Given the description of an element on the screen output the (x, y) to click on. 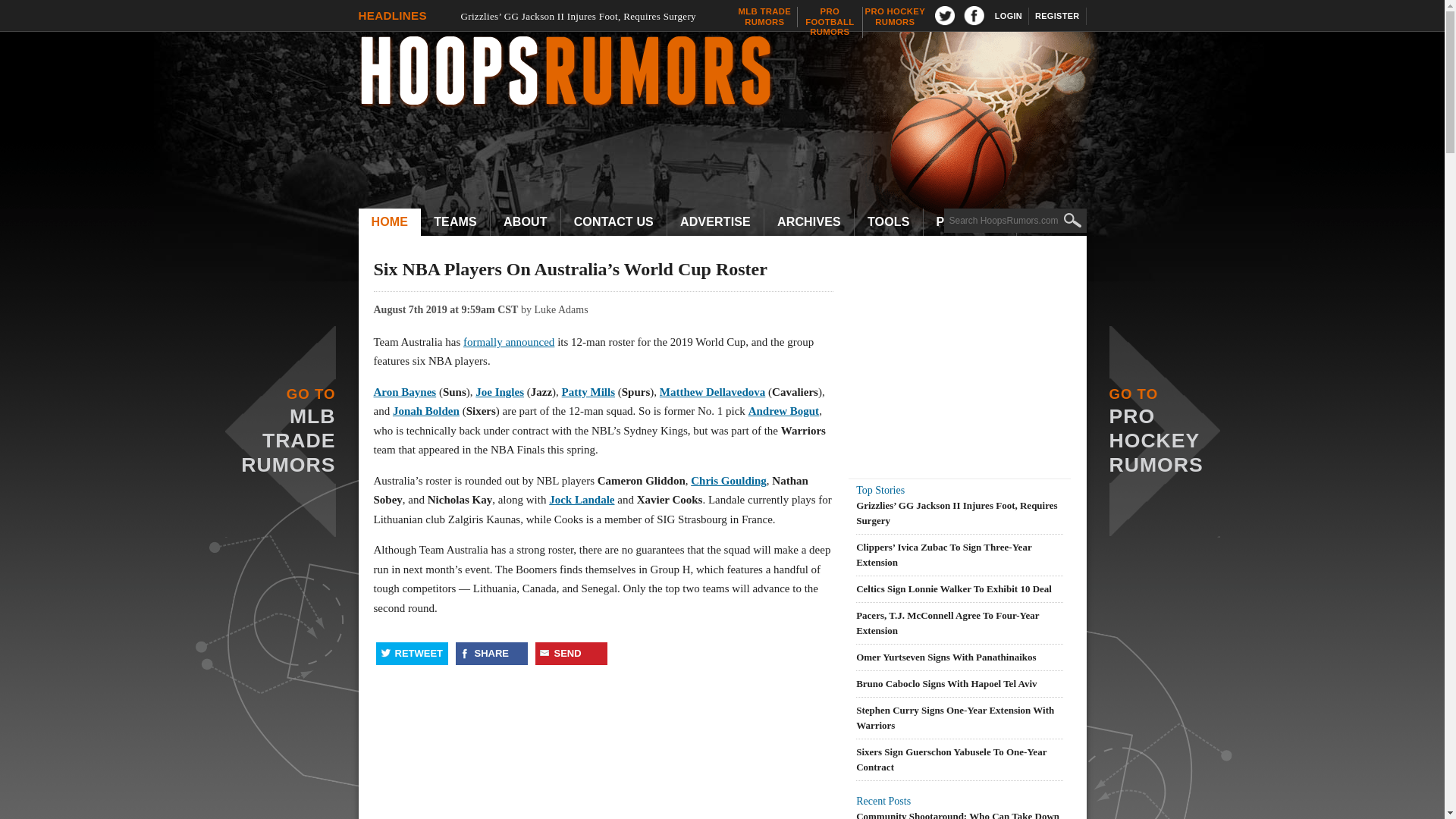
HOME (389, 221)
LOGIN (1008, 16)
REGISTER (1057, 16)
Hoops Rumors (764, 16)
TEAMS (729, 72)
teams (455, 221)
Search for: (455, 221)
